Given the description of an element on the screen output the (x, y) to click on. 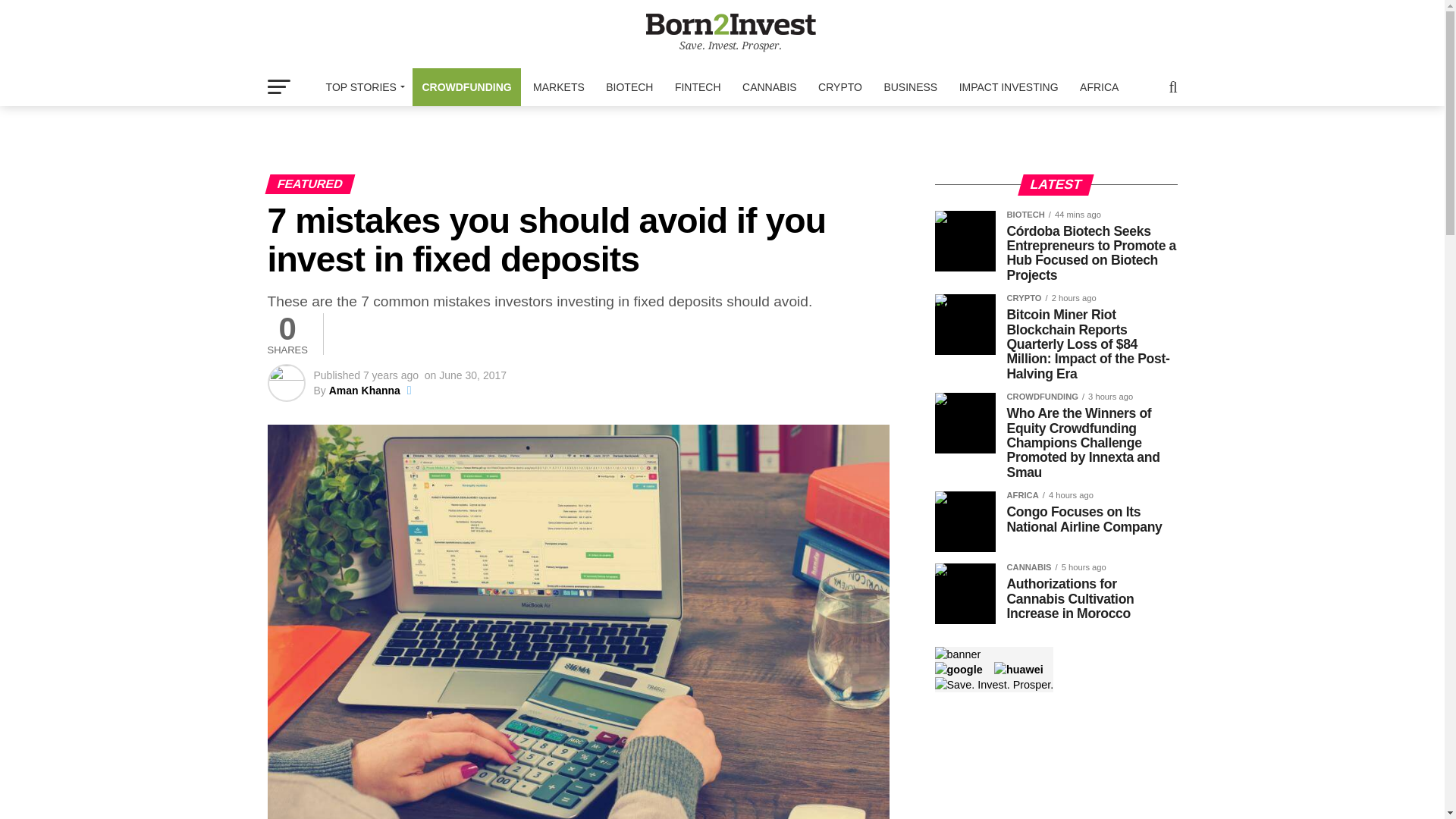
Posts by Aman Khanna (364, 390)
IMPACT INVESTING (1008, 86)
BUSINESS (910, 86)
CRYPTO (839, 86)
TOP STORIES (363, 86)
FINTECH (697, 86)
BIOTECH (629, 86)
CROWDFUNDING (465, 86)
Aman Khanna (364, 390)
MARKETS (559, 86)
